Given the description of an element on the screen output the (x, y) to click on. 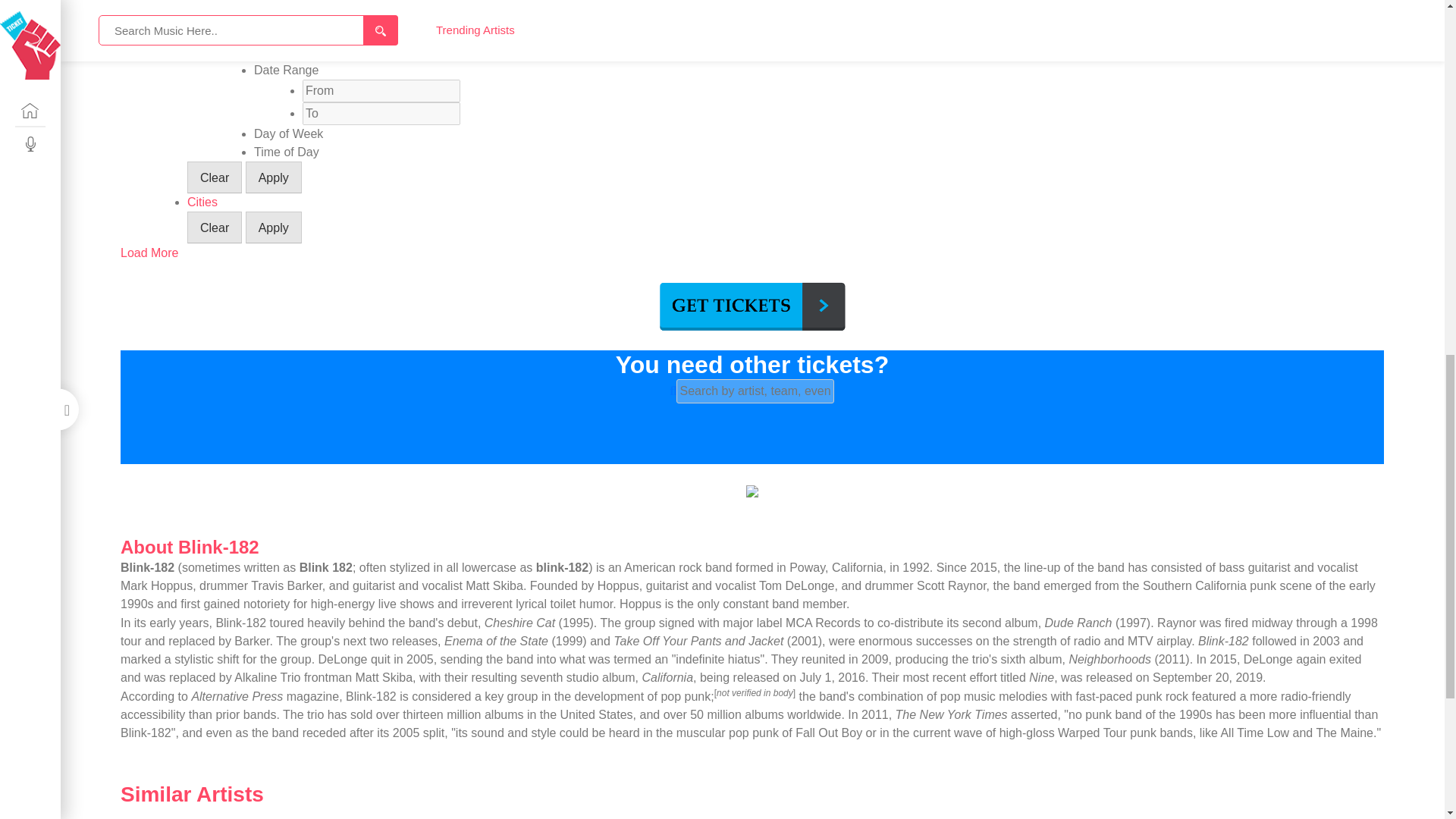
Load More (149, 252)
Clear (214, 177)
Cities (201, 201)
Clear (214, 227)
Apply (273, 227)
Apply (273, 177)
Dates (203, 51)
You need other tickets? (752, 364)
